Given the description of an element on the screen output the (x, y) to click on. 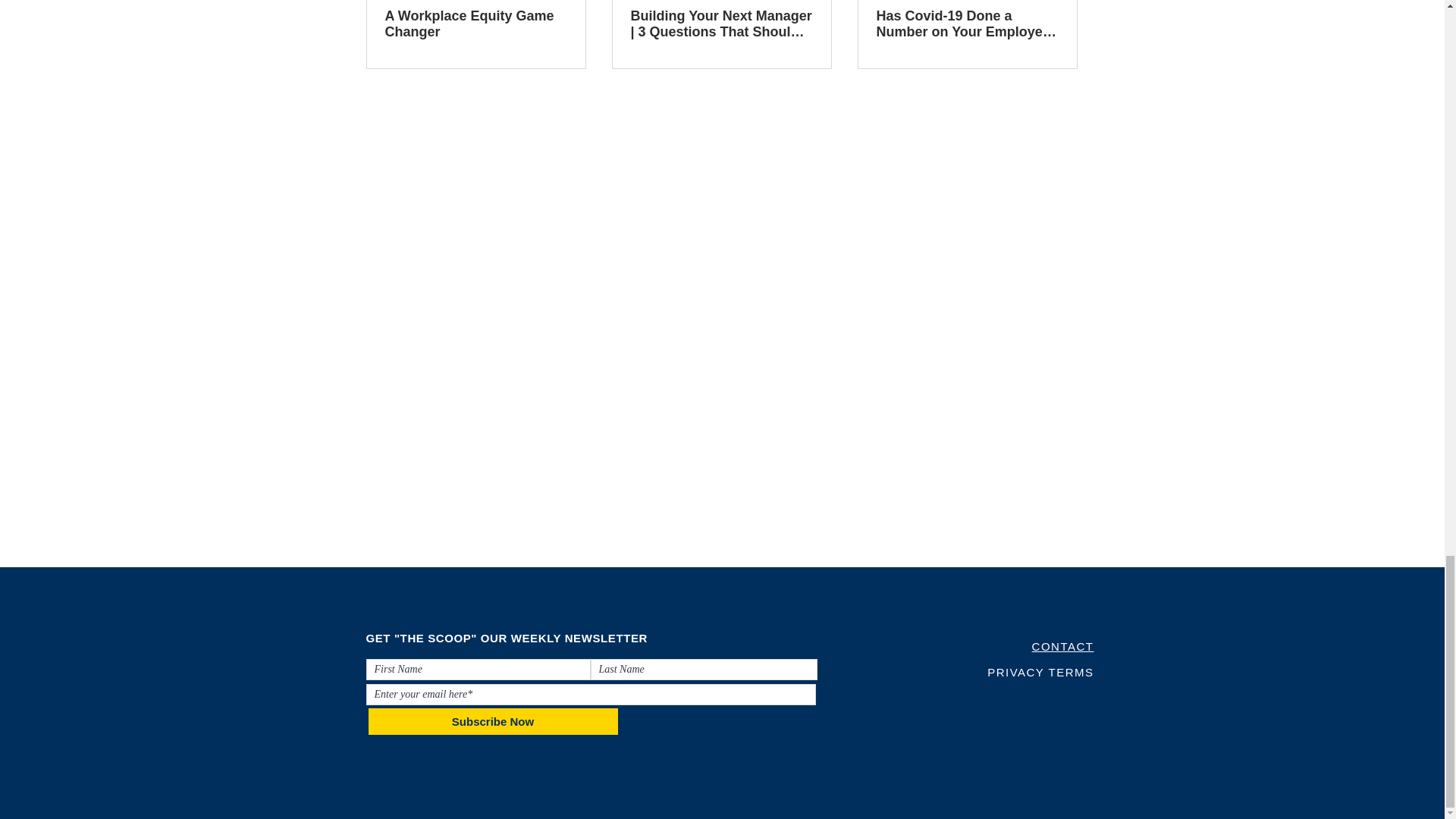
A Workplace Equity Game Changer (476, 24)
Subscribe Now (492, 721)
Has Covid-19 Done a Number on Your Employee Engagement? (967, 24)
CONTACT (1063, 645)
